Given the description of an element on the screen output the (x, y) to click on. 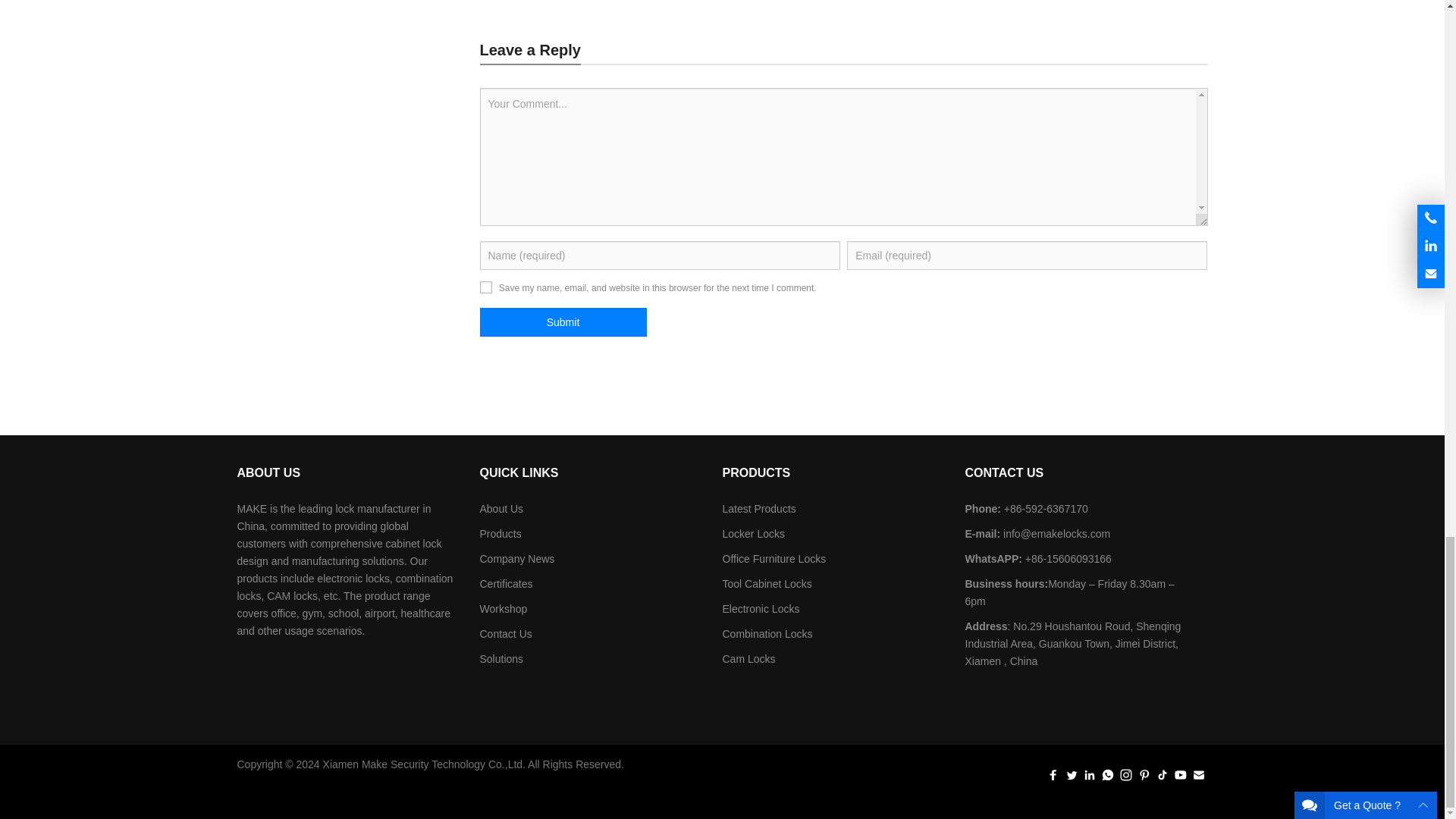
yes (485, 287)
Submit (562, 321)
